Given the description of an element on the screen output the (x, y) to click on. 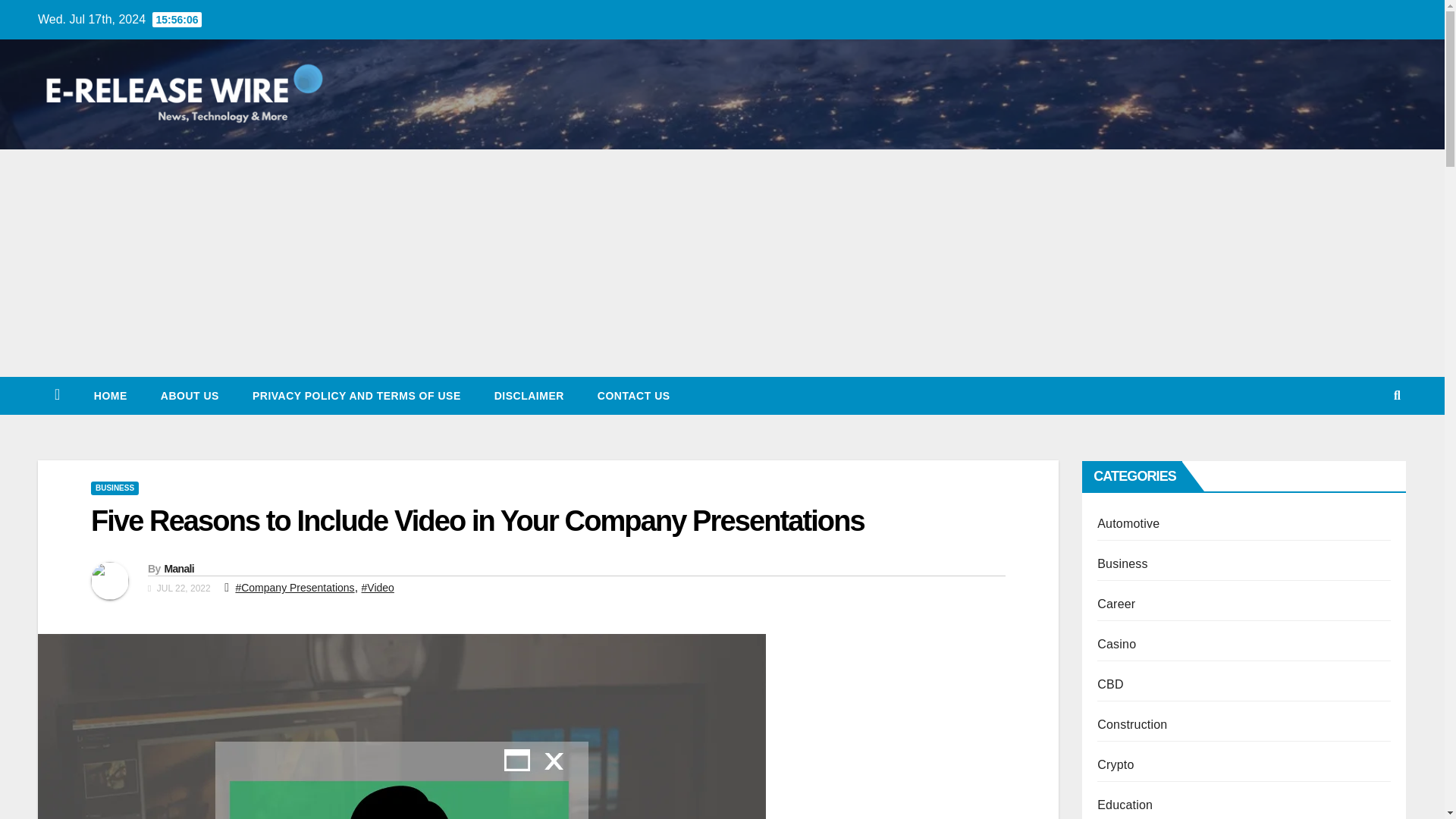
Manali (178, 568)
DISCLAIMER (528, 395)
Contact Us (633, 395)
HOME (110, 395)
Privacy Policy and Terms of Use (356, 395)
Disclaimer (528, 395)
BUSINESS (114, 488)
About Us (189, 395)
Home (110, 395)
ABOUT US (189, 395)
PRIVACY POLICY AND TERMS OF USE (356, 395)
CONTACT US (633, 395)
Five Reasons to Include Video in Your Company Presentations (477, 521)
